Given the description of an element on the screen output the (x, y) to click on. 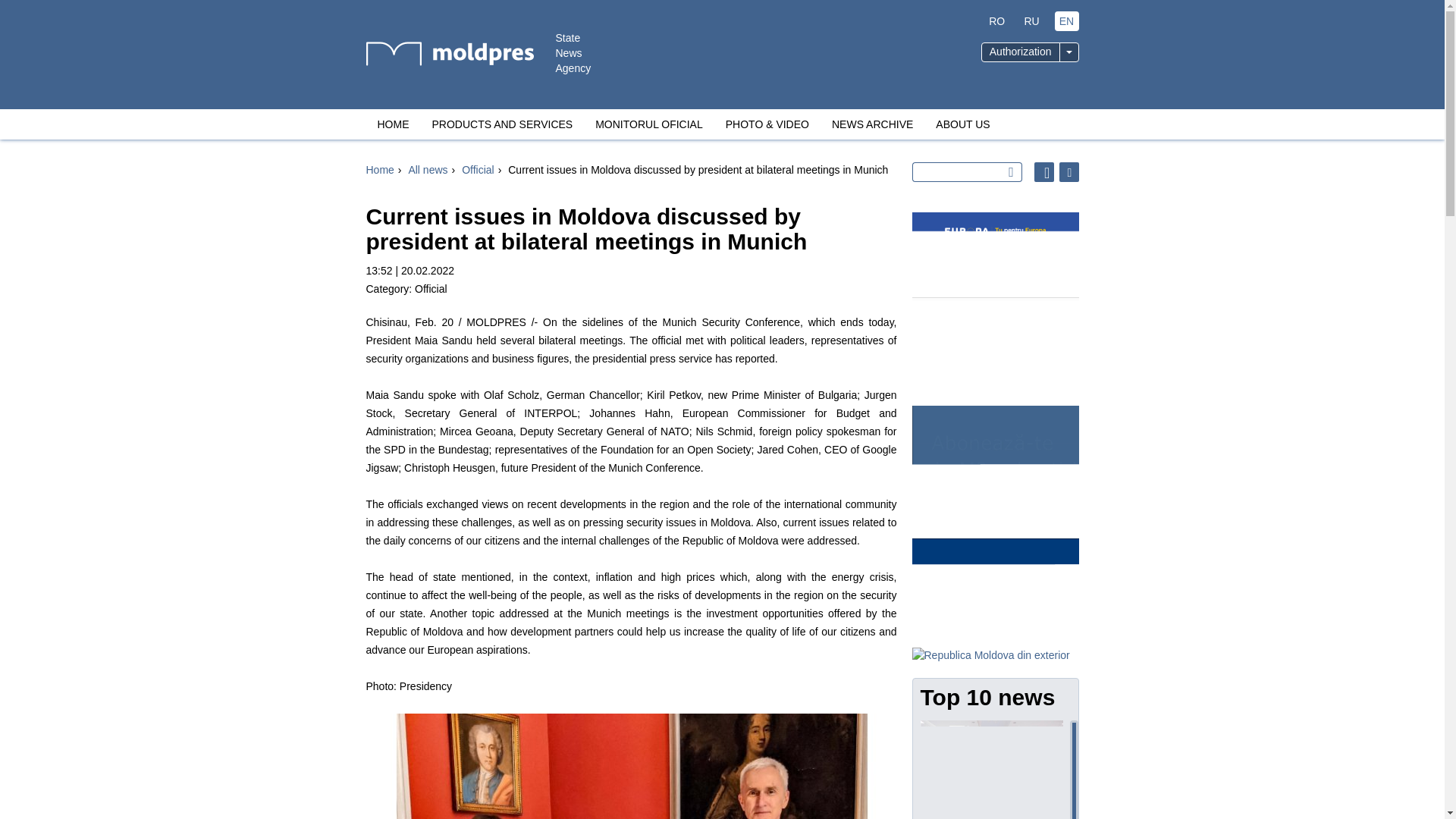
MONITORUL OFICIAL (648, 123)
RO (997, 21)
PRODUCTS AND SERVICES (501, 123)
EN (1066, 21)
RU (1031, 21)
NEWS ARCHIVE (872, 123)
HOME (392, 123)
Toogle Dropdown (1068, 52)
ABOUT US (962, 123)
Authorization (1020, 52)
